Given the description of an element on the screen output the (x, y) to click on. 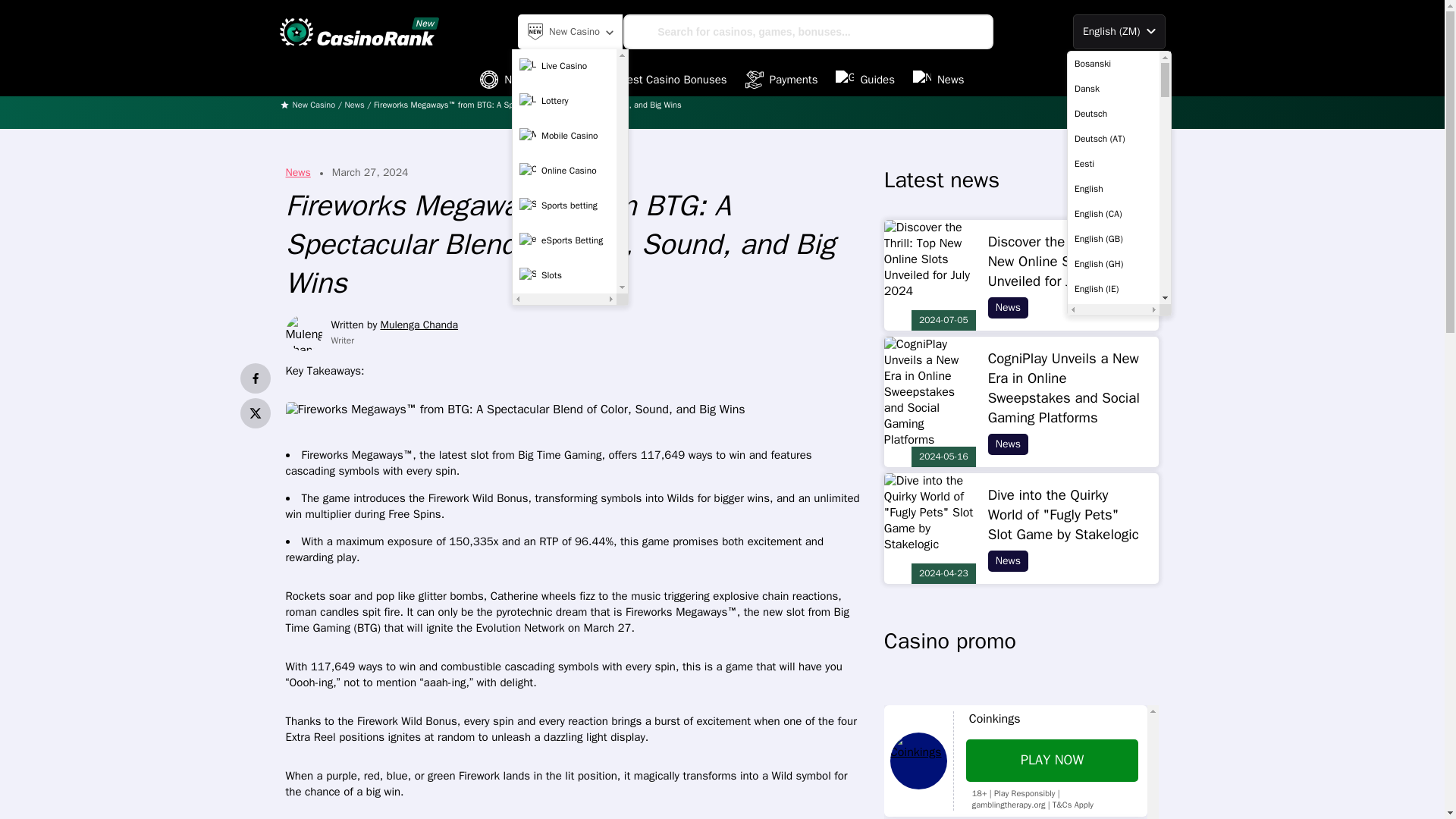
Hrvatski (1113, 810)
Mobile Casino (563, 135)
Sports betting (563, 205)
Eesti (1113, 163)
Slots (563, 275)
Online Casino (563, 170)
Deutsch (1113, 113)
Bosanski (1113, 63)
Live Casino (563, 65)
eSports Betting (563, 240)
English (1113, 188)
Dansk (1113, 88)
Lottery (563, 100)
